Given the description of an element on the screen output the (x, y) to click on. 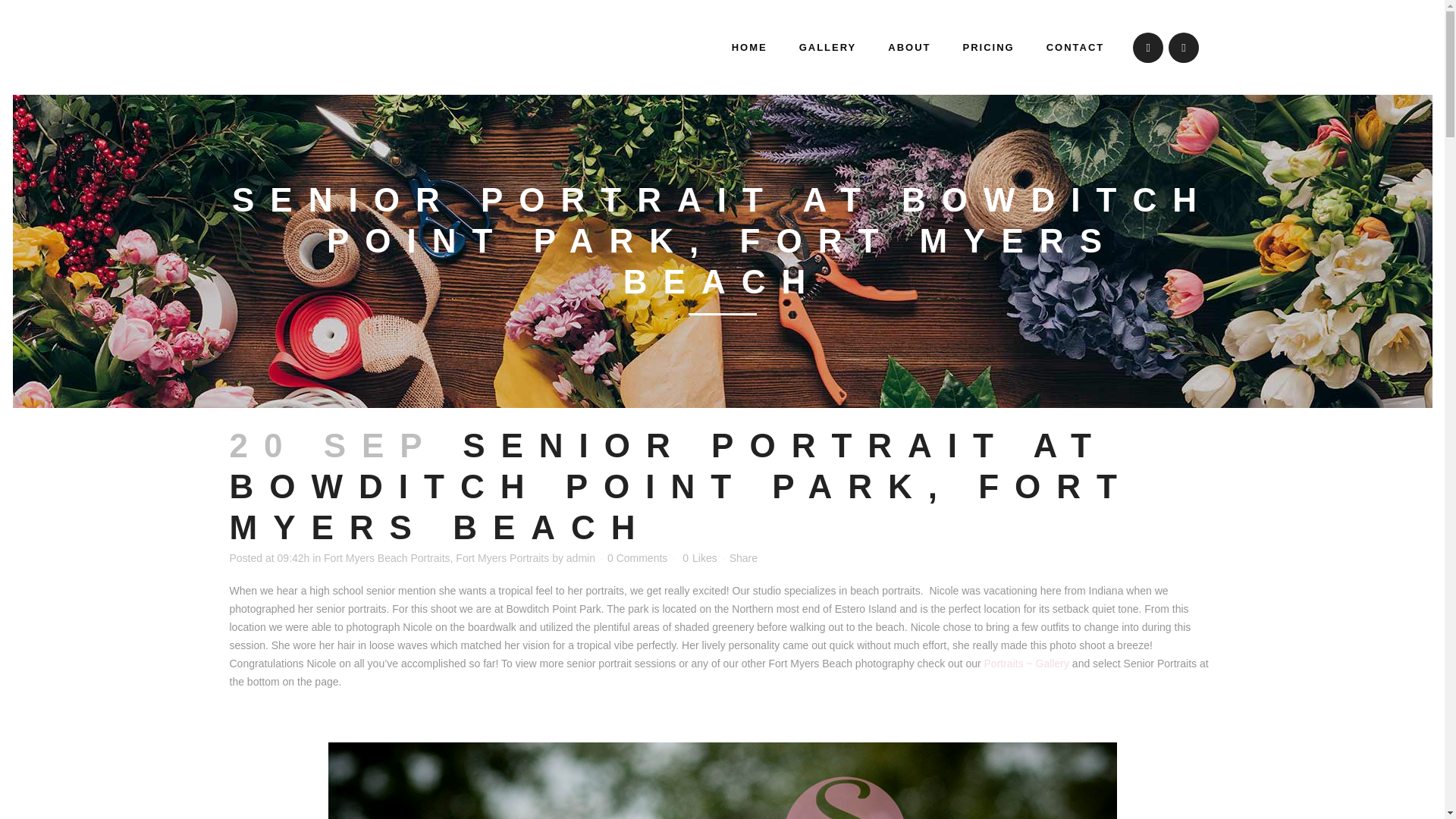
admin (580, 558)
Fort Myers Portraits (501, 558)
Fort Myers Beach Portraits (386, 558)
Like this (699, 557)
0 Likes (699, 557)
0 Comments (636, 558)
Share (743, 558)
CONTACT (1075, 47)
GALLERY (827, 47)
